Given the description of an element on the screen output the (x, y) to click on. 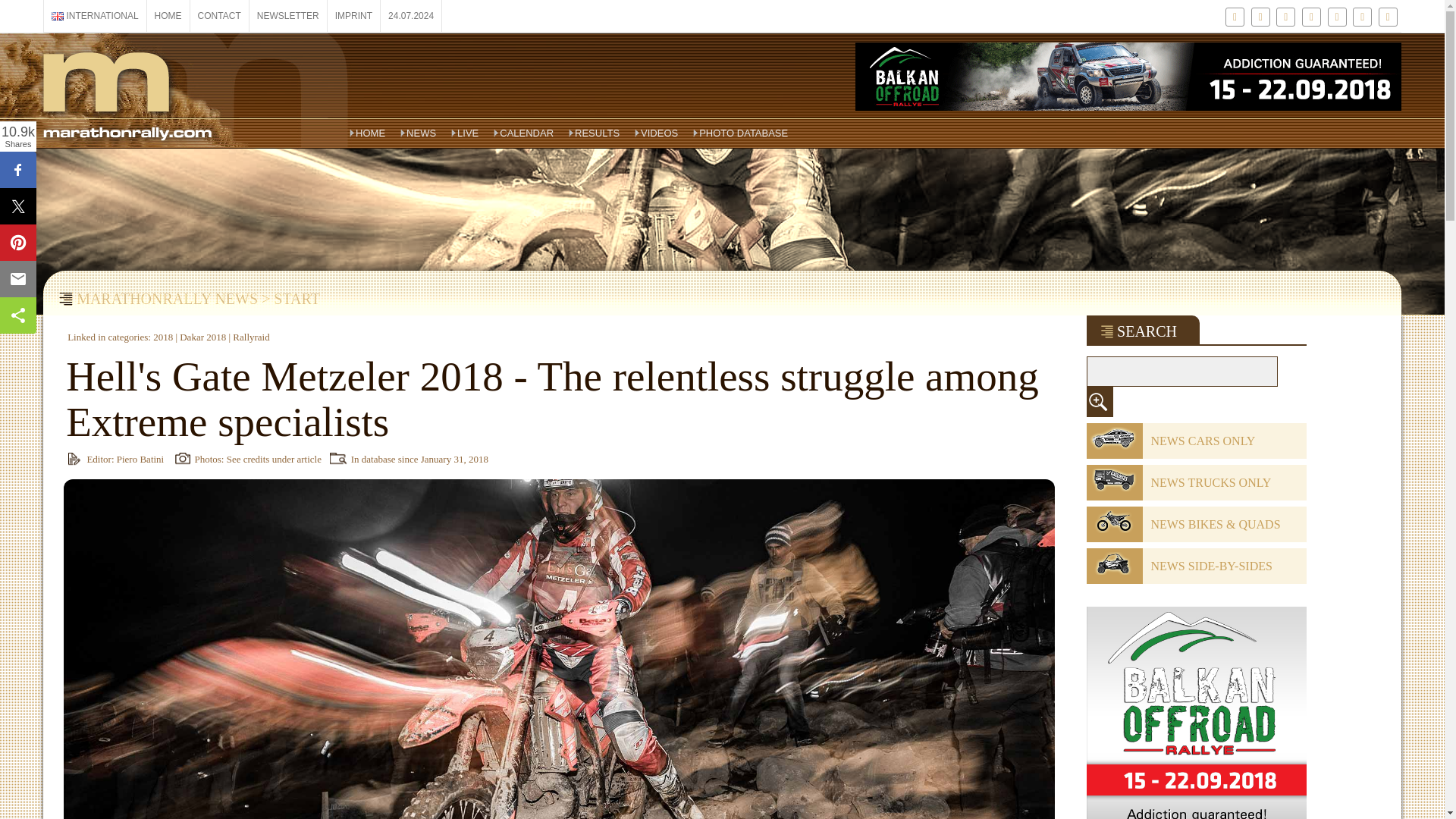
24.07.2024 (410, 15)
VIDEOS (656, 133)
LIVE (465, 133)
HOME (168, 15)
. (1098, 401)
RESULTS (593, 133)
NEWS (418, 133)
CONTACT (219, 15)
IMPRINT (353, 15)
PHOTO DATABASE (739, 133)
NEWSLETTER (287, 15)
HOME (367, 133)
INTERNATIONAL (95, 15)
CALENDAR (523, 133)
